Given the description of an element on the screen output the (x, y) to click on. 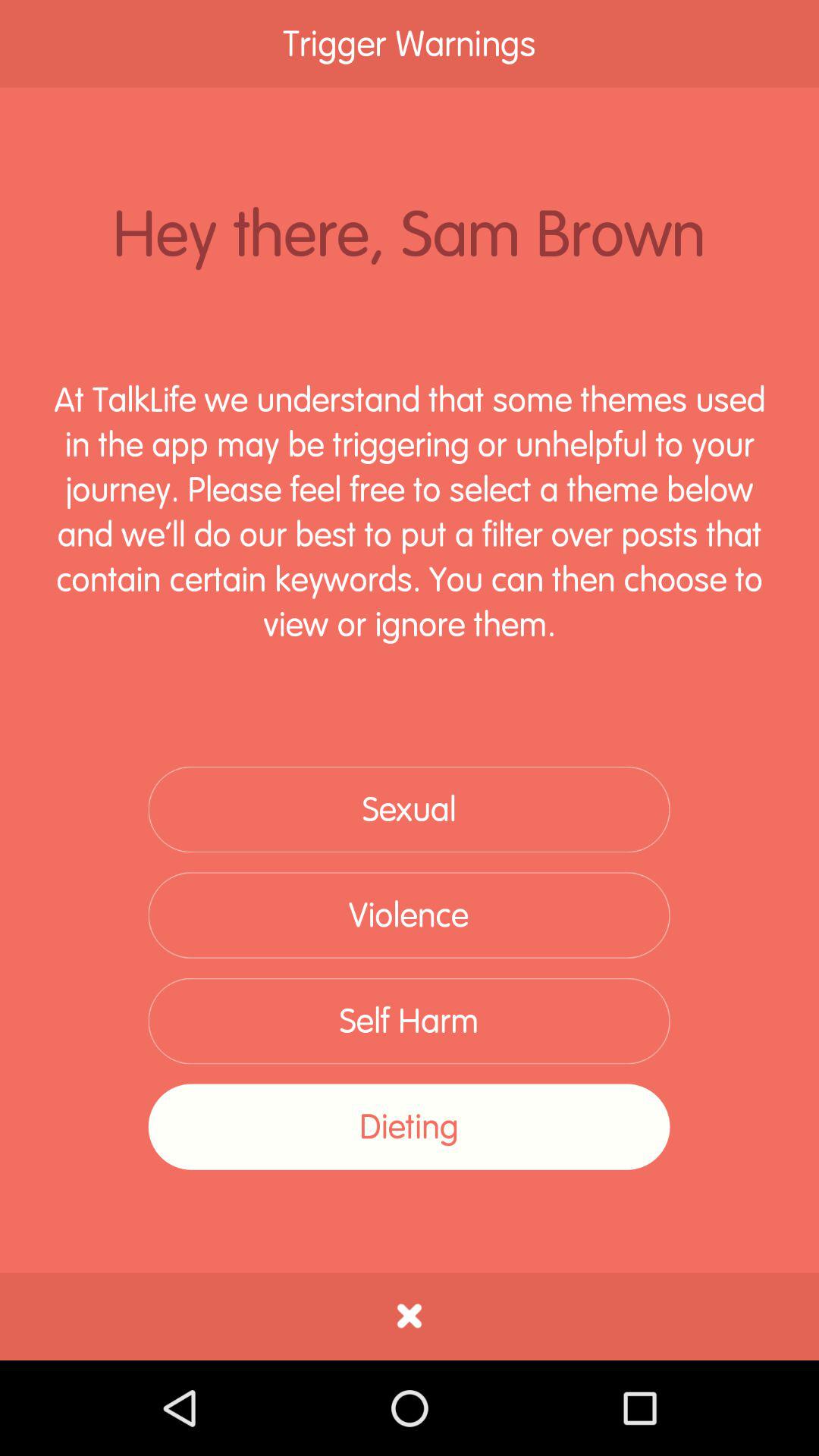
turn on trigger warnings icon (409, 43)
